Given the description of an element on the screen output the (x, y) to click on. 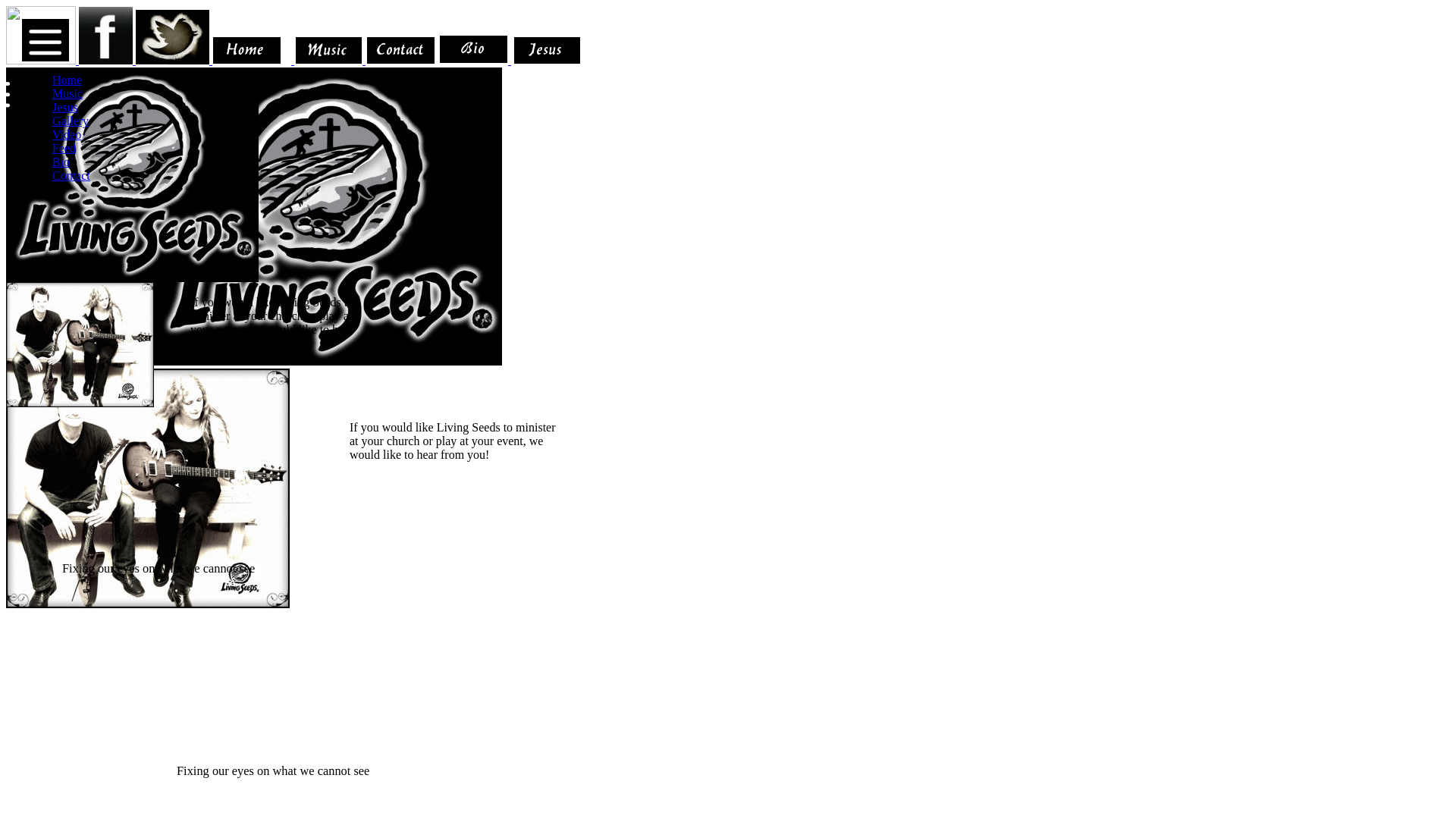
Music Element type: text (67, 93)
Gallery Element type: text (70, 120)
Home Element type: text (66, 79)
Jesus Element type: text (65, 106)
Feed Element type: text (63, 147)
Contact Element type: text (71, 175)
Video Element type: text (66, 134)
Bio Element type: text (60, 161)
